Given the description of an element on the screen output the (x, y) to click on. 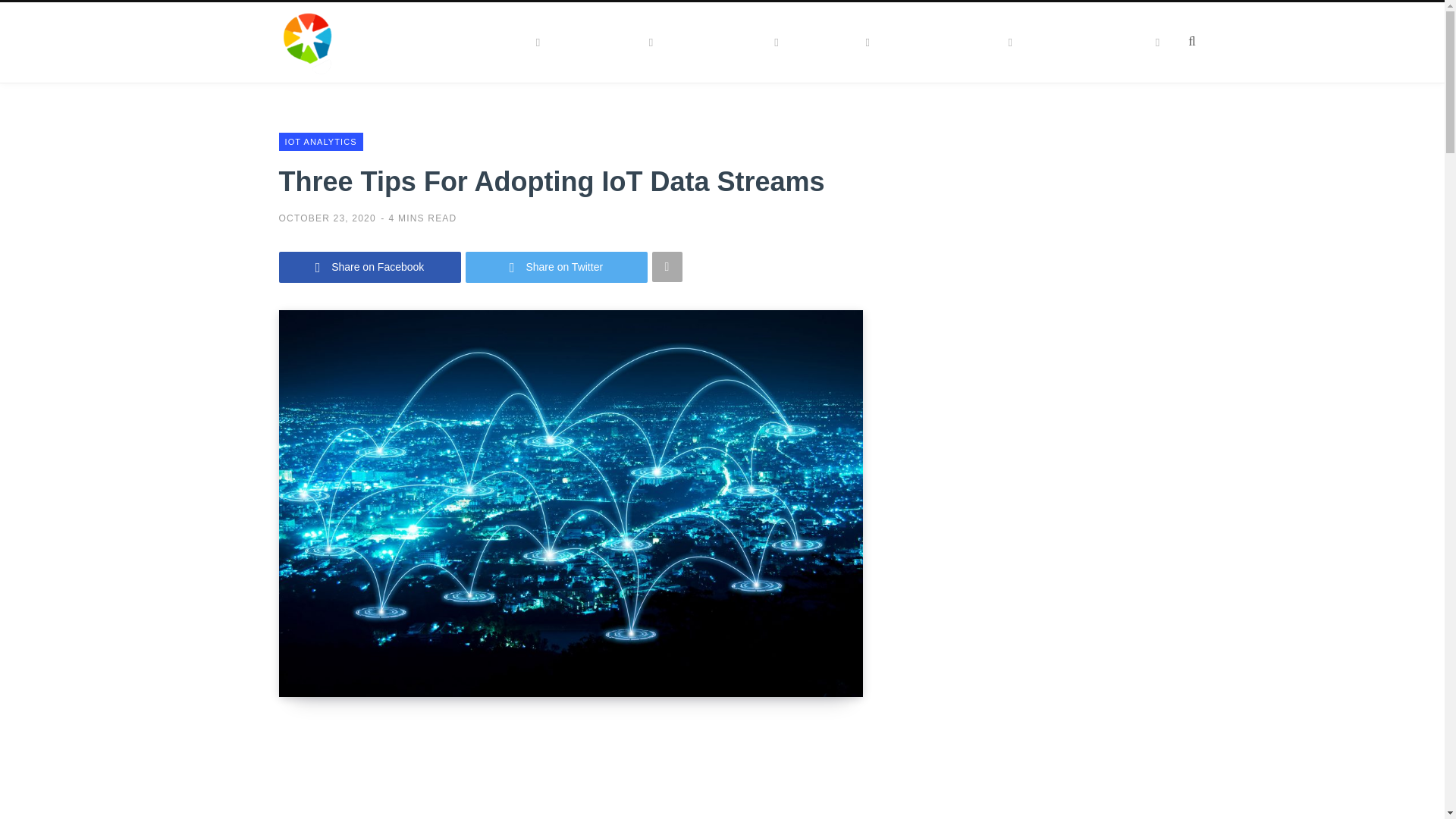
Big Data (511, 41)
